Given the description of an element on the screen output the (x, y) to click on. 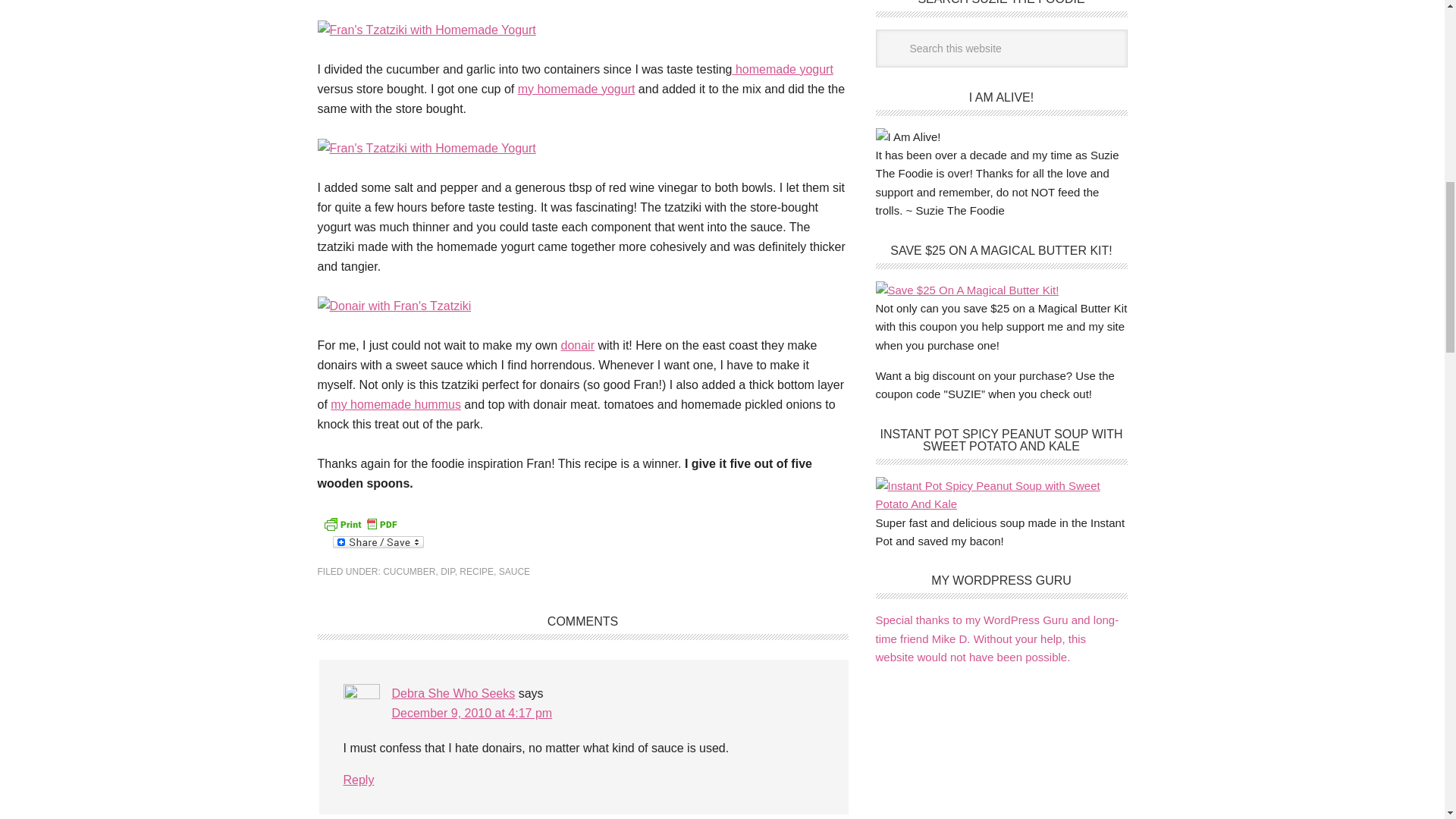
Donair with Fran's Tzatziki by Suzie Ridler, on Flickr (393, 305)
homemade yogurt (782, 69)
my homemade yogurt (576, 88)
Debra She Who Seeks (453, 693)
CUCUMBER (408, 571)
DIP (447, 571)
SAUCE (514, 571)
